Given the description of an element on the screen output the (x, y) to click on. 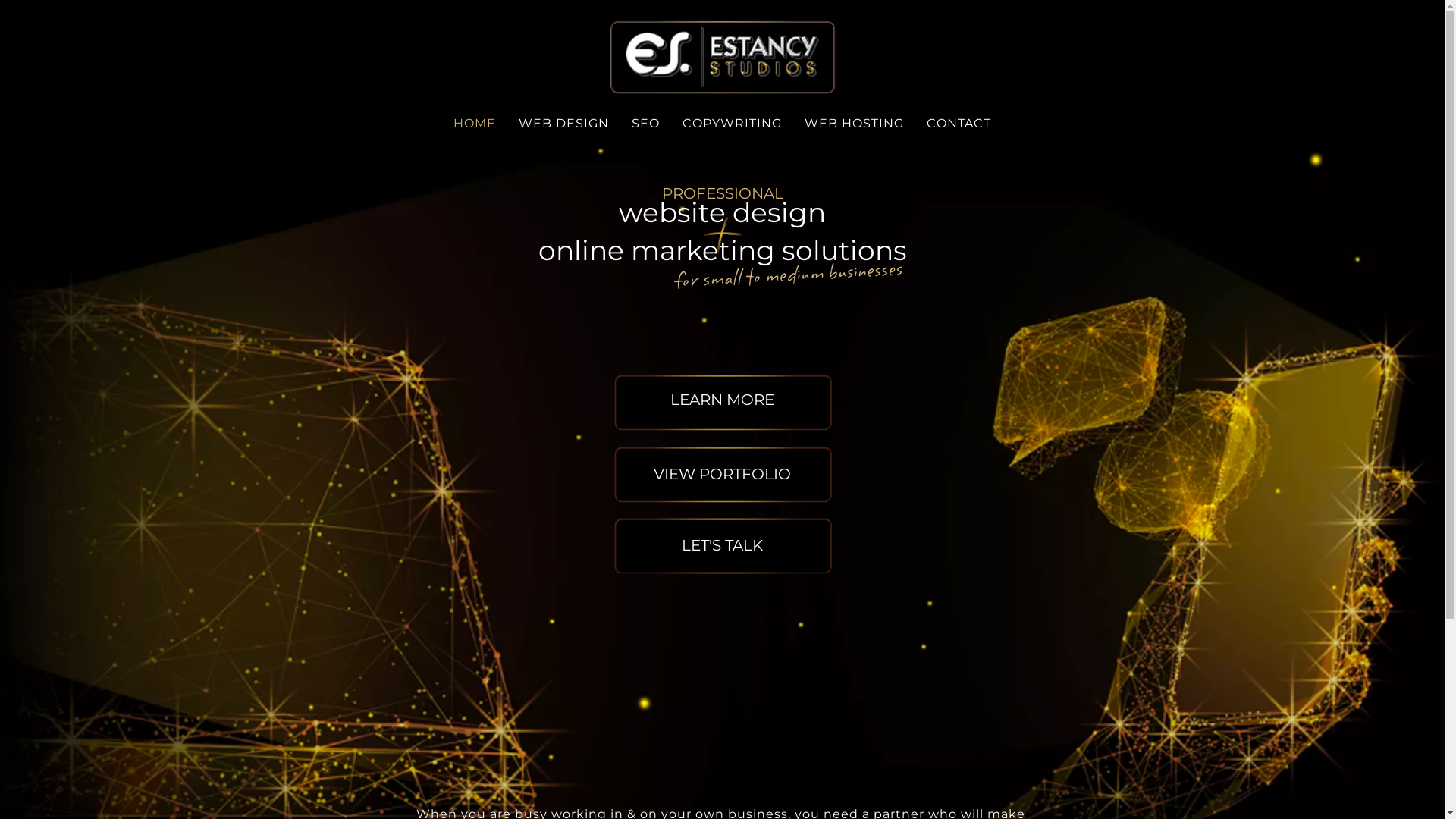
WEB HOSTING Element type: text (853, 123)
LEARN MORE Element type: text (722, 399)
SEO Element type: text (645, 123)
Web Design Element type: hover (721, 401)
LET'S TALK Element type: text (721, 545)
HOME Element type: text (474, 123)
WEB DESIGN Element type: text (563, 123)
CONTACT Element type: text (958, 123)
COPYWRITING Element type: text (731, 123)
Contact Element type: hover (721, 545)
